Given the description of an element on the screen output the (x, y) to click on. 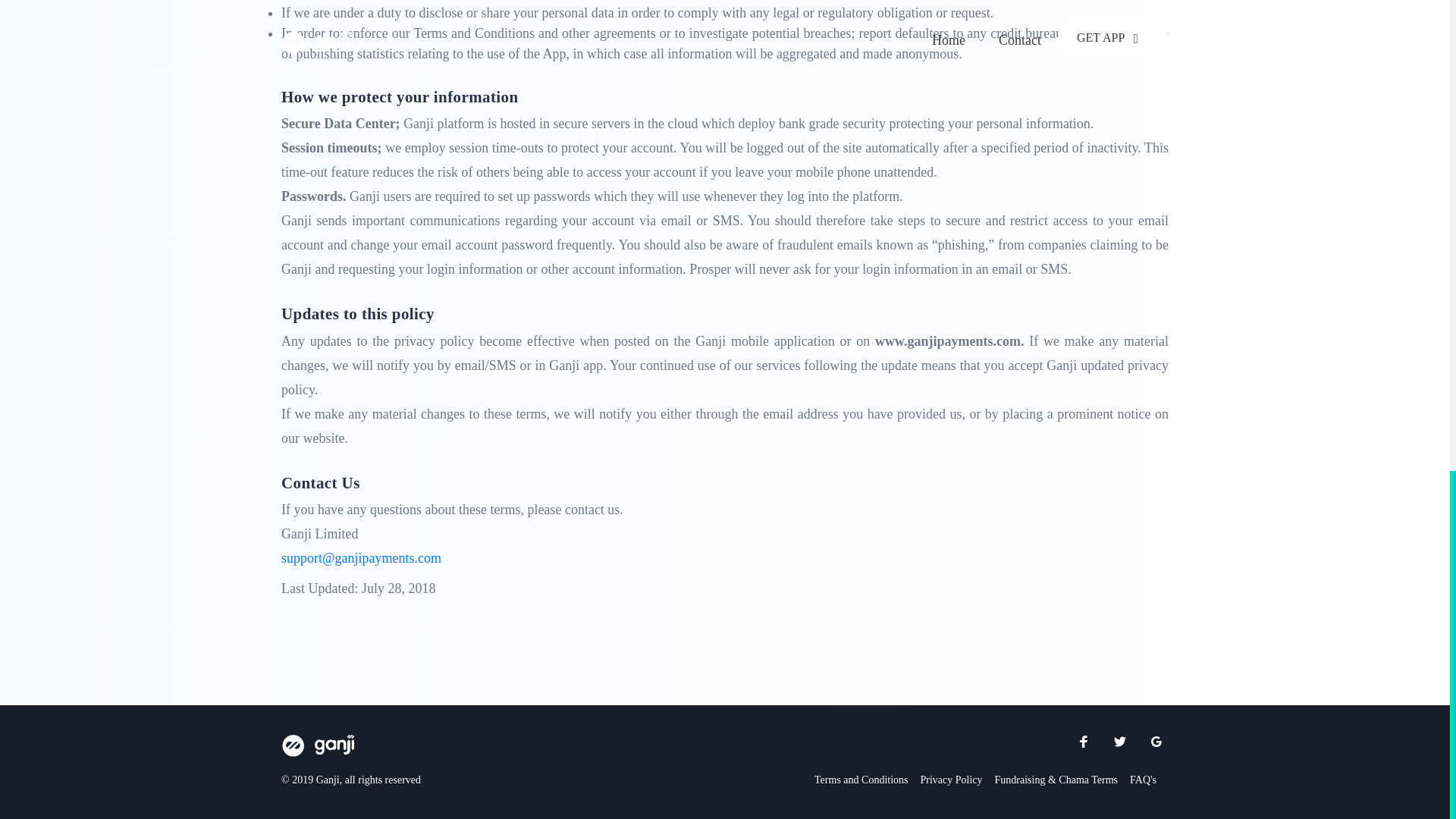
FAQ's (1142, 780)
Privacy Policy (951, 780)
Terms and Conditions (860, 780)
